Given the description of an element on the screen output the (x, y) to click on. 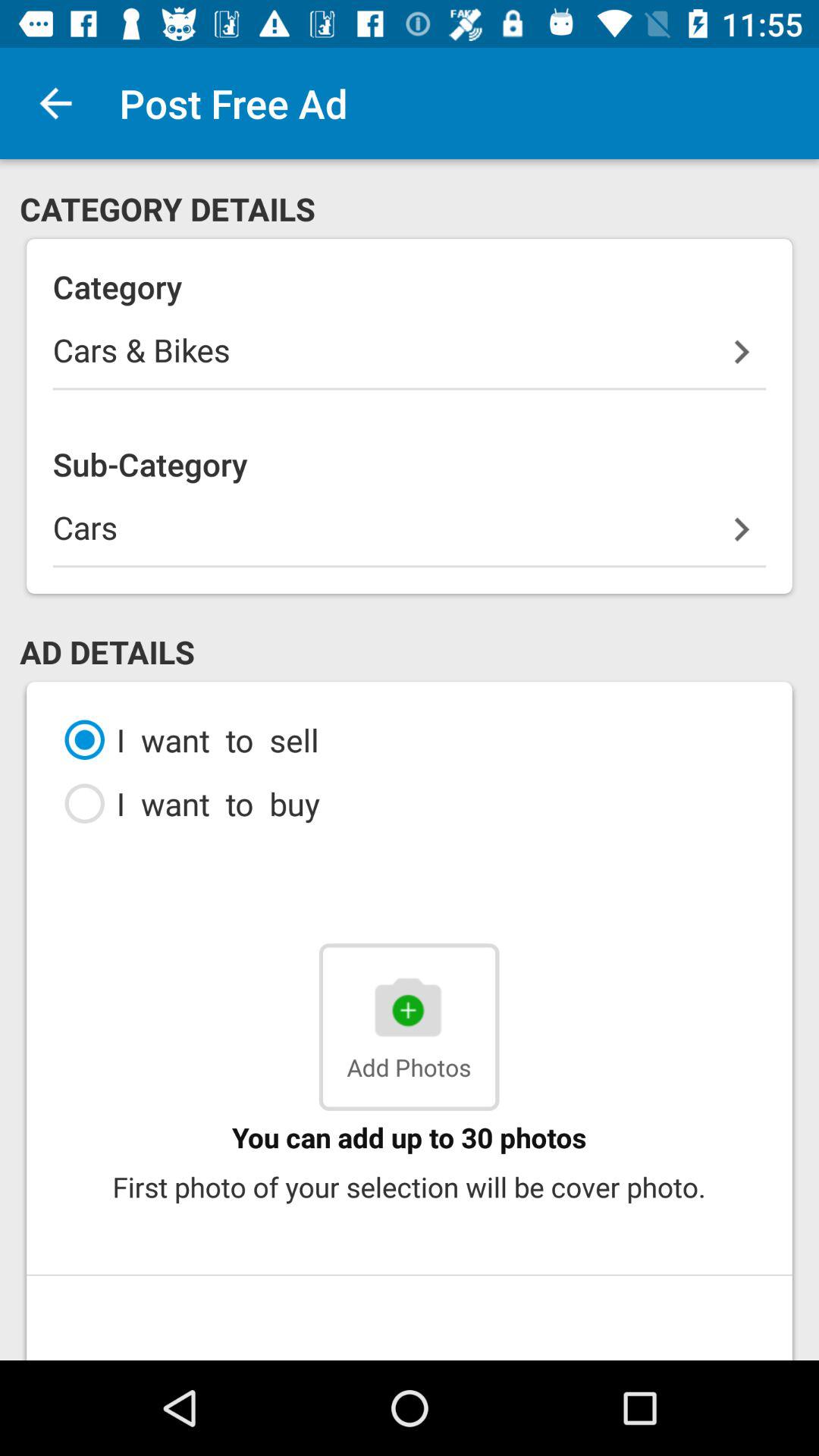
launch the item above the category details icon (55, 103)
